Given the description of an element on the screen output the (x, y) to click on. 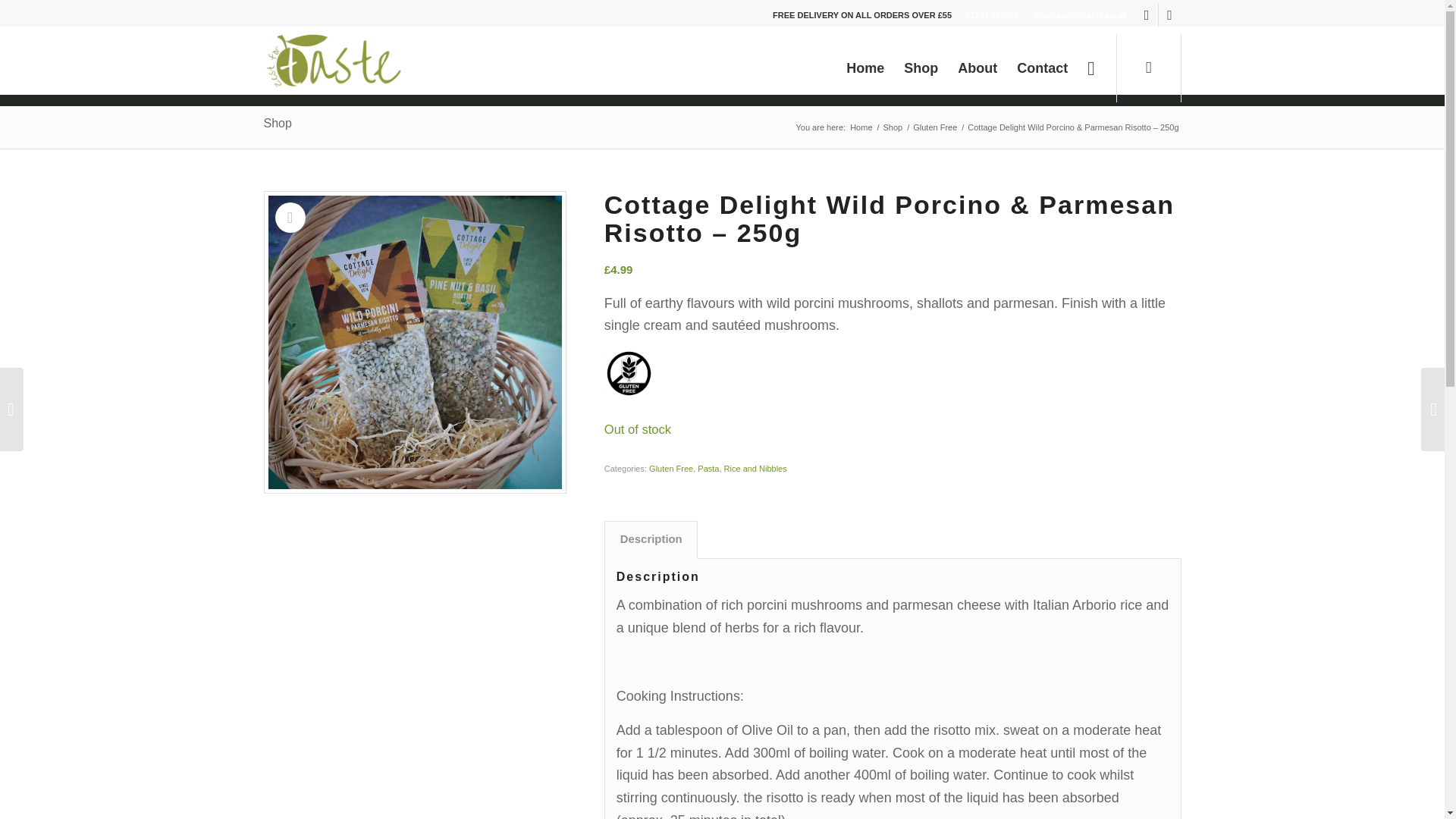
Shop (277, 123)
Permanent Link: Shop (277, 123)
01243 553555 (991, 14)
Gluten Free (935, 127)
Shop (892, 127)
Zest for Taste (861, 127)
Gluten Free (935, 127)
Description (650, 539)
Description (650, 539)
Home (861, 127)
Gluten Free (671, 468)
Shop (892, 127)
Instagram (1169, 15)
Facebook (1146, 15)
Contact (1042, 68)
